Given the description of an element on the screen output the (x, y) to click on. 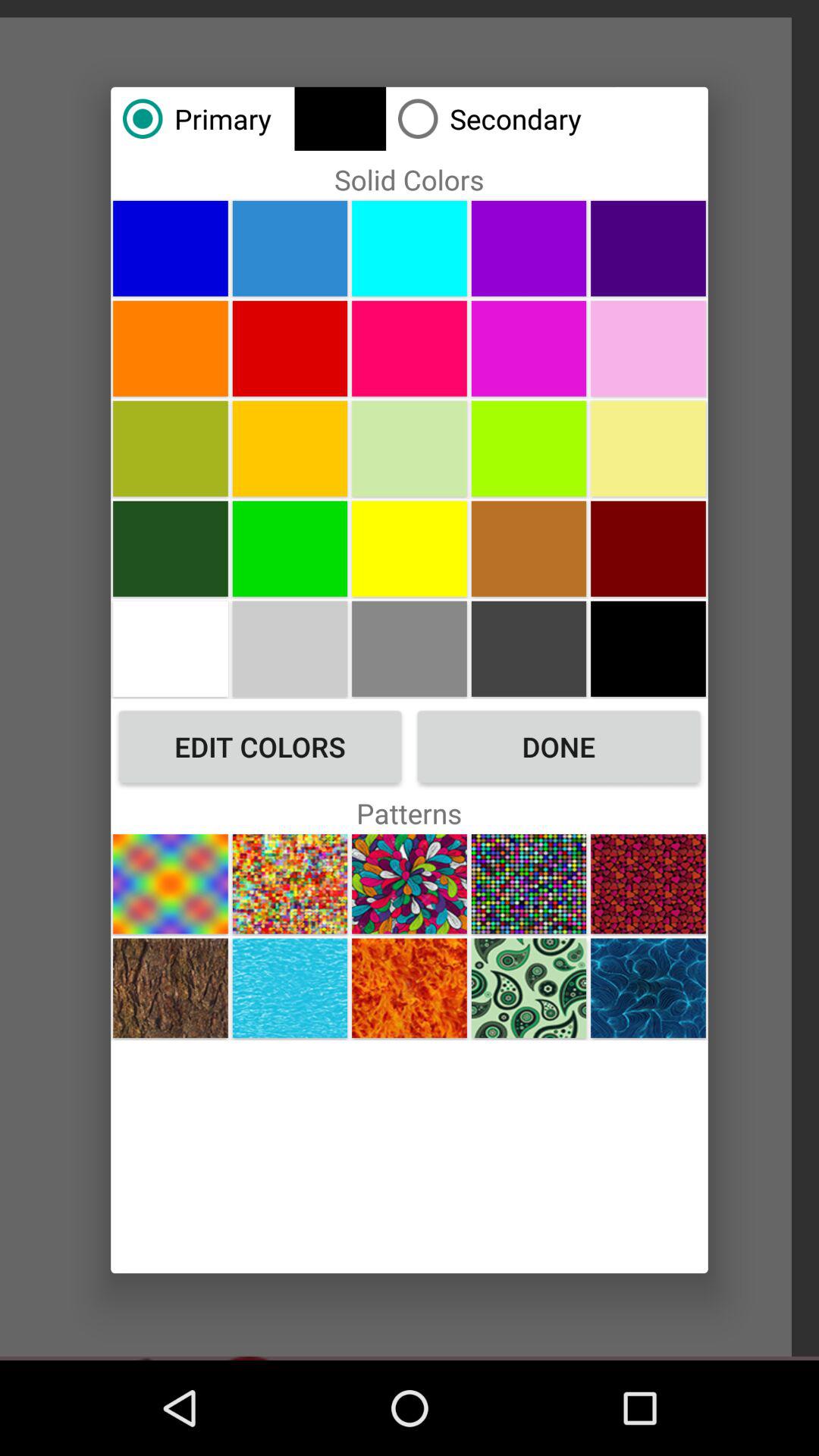
change color to brown (528, 548)
